Given the description of an element on the screen output the (x, y) to click on. 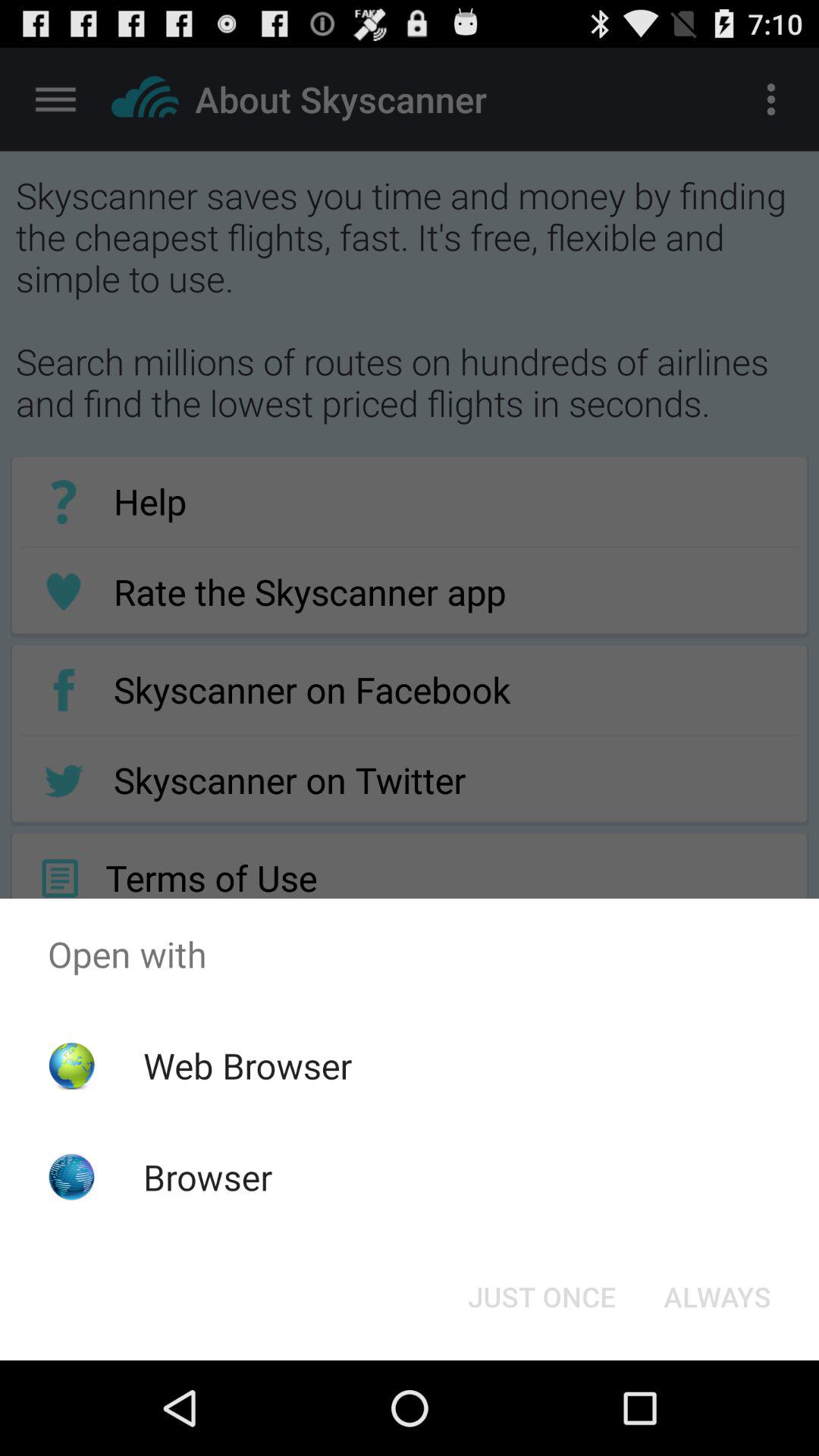
choose the app below the open with item (247, 1065)
